Given the description of an element on the screen output the (x, y) to click on. 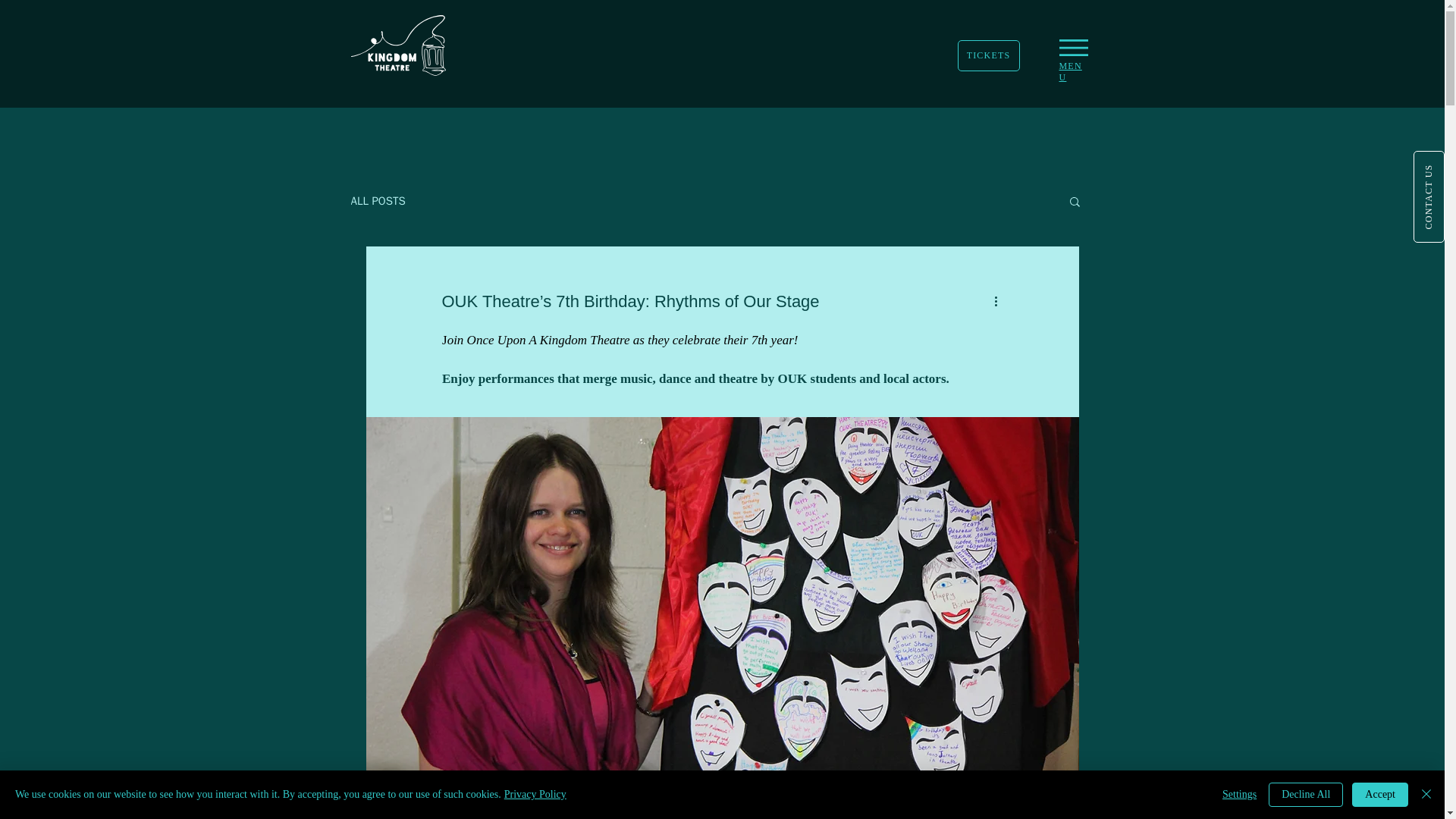
MENU (1069, 71)
Privacy Policy (534, 794)
ALL POSTS (377, 201)
Accept (1379, 794)
TICKETS (987, 55)
Decline All (1305, 794)
